Given the description of an element on the screen output the (x, y) to click on. 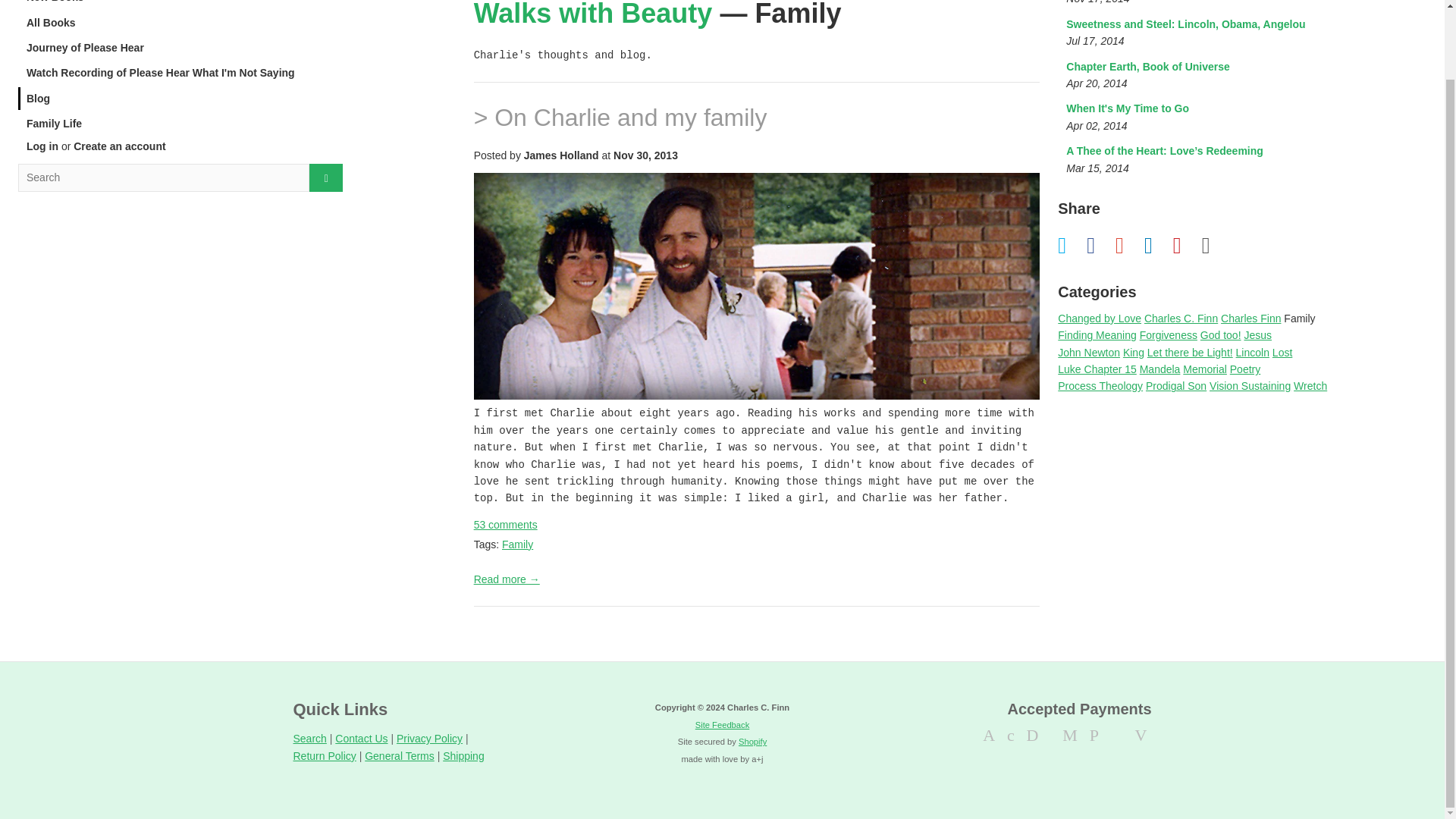
53 comments (505, 524)
Family (517, 544)
Changed by Love (1099, 318)
Finding Meaning (1097, 335)
Journey of Please Hear (179, 47)
John Newton (1088, 352)
Forgiveness (1168, 335)
Charles Finn (1195, 33)
Family Life (1251, 318)
Let there be Light! (179, 123)
Subscribe (1190, 352)
Log in (1214, 244)
Watch Recording of Please Hear What I'm Not Saying (42, 146)
Share on LinkedIn (179, 72)
